Given the description of an element on the screen output the (x, y) to click on. 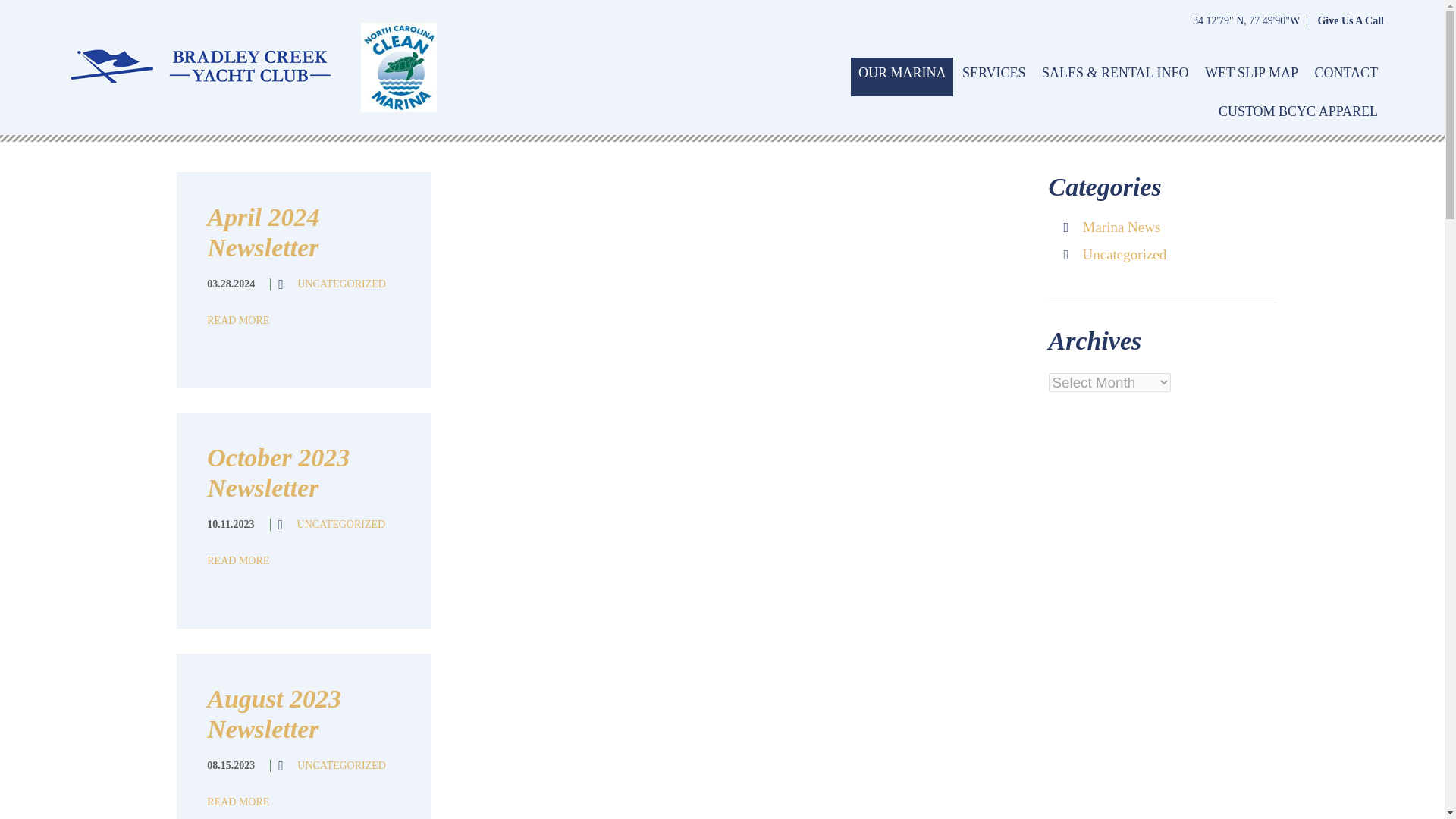
READ MORE (237, 801)
UNCATEGORIZED (341, 765)
OUR MARINA (901, 76)
WET SLIP MAP (1251, 76)
August 2023 Newsletter (273, 713)
UNCATEGORIZED (341, 523)
READ MORE (237, 560)
October 2023 Newsletter (277, 472)
UNCATEGORIZED (341, 283)
SERVICES (994, 76)
CUSTOM BCYC APPAREL (1298, 115)
CONTACT (1346, 76)
READ MORE (237, 319)
April 2024 Newsletter (262, 232)
Give Us A Call (1350, 21)
